Given the description of an element on the screen output the (x, y) to click on. 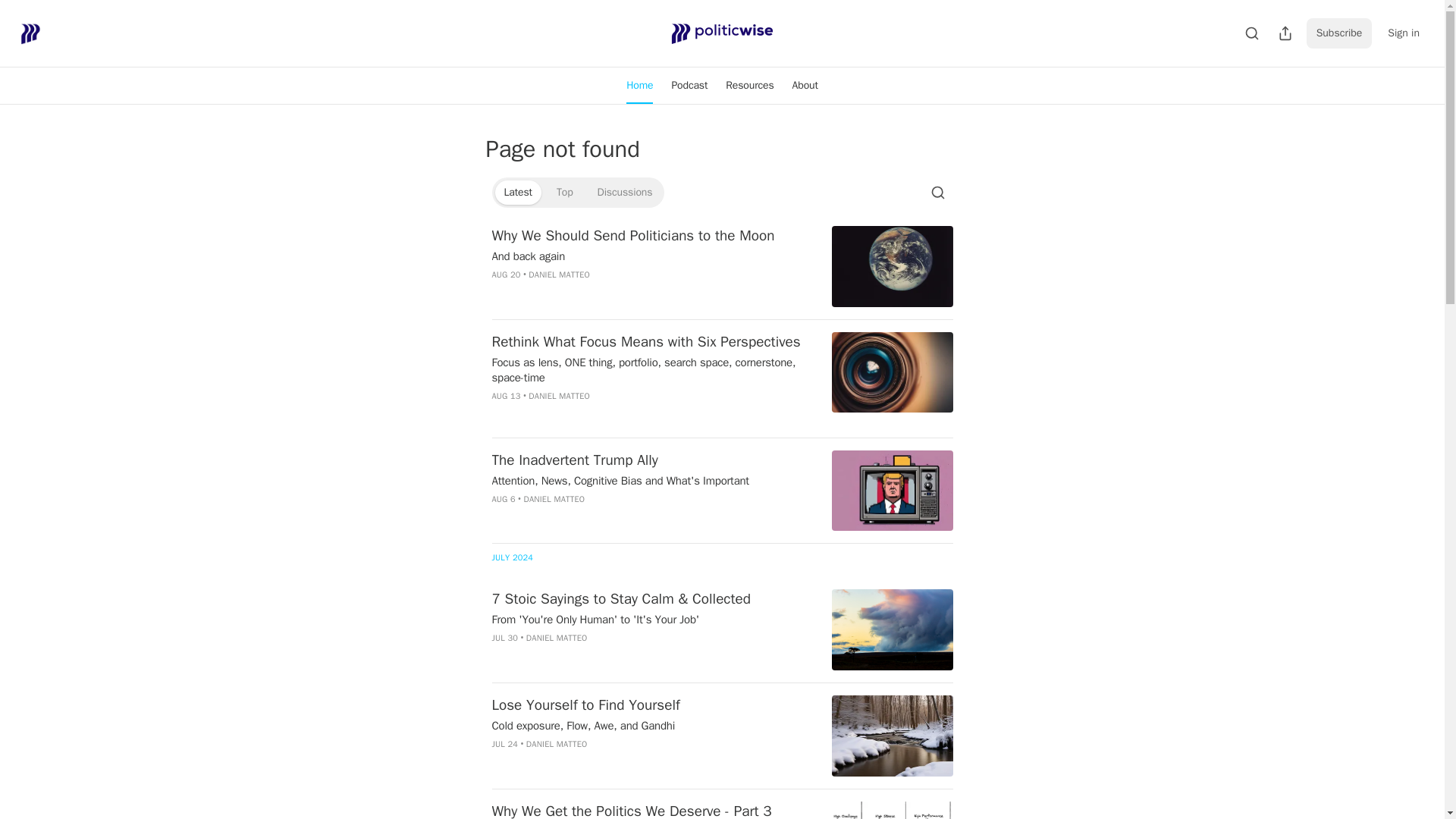
Resources (749, 85)
And back again (652, 255)
Top (564, 192)
Attention, News, Cognitive Bias and What's Important (652, 480)
Subscribe (1339, 33)
Why We Should Send Politicians to the Moon (652, 235)
Home (639, 85)
Latest (517, 192)
The Inadvertent Trump Ally (652, 460)
DANIEL MATTEO (558, 395)
